Given the description of an element on the screen output the (x, y) to click on. 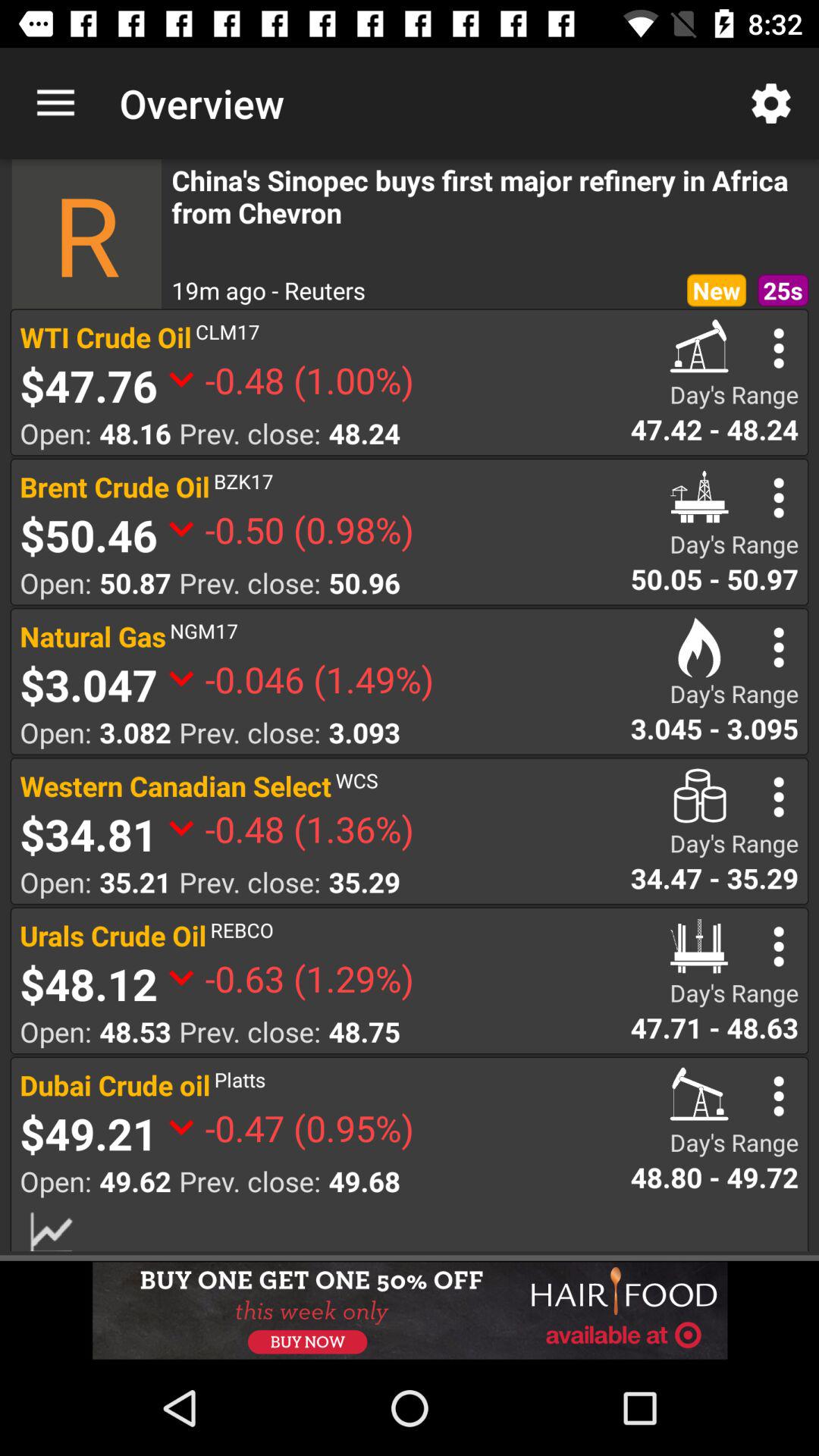
settings (778, 796)
